Given the description of an element on the screen output the (x, y) to click on. 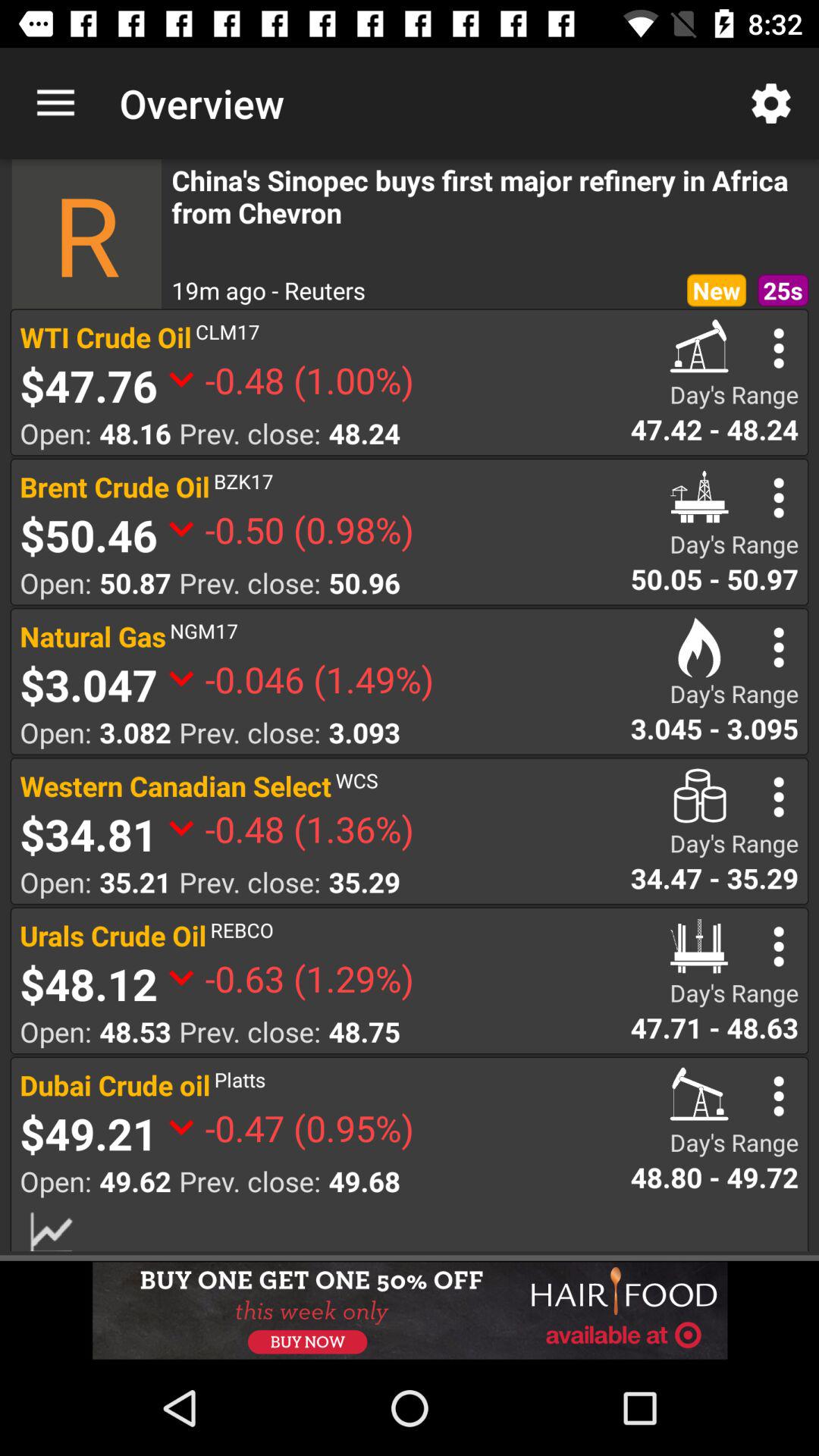
settings (778, 796)
